Given the description of an element on the screen output the (x, y) to click on. 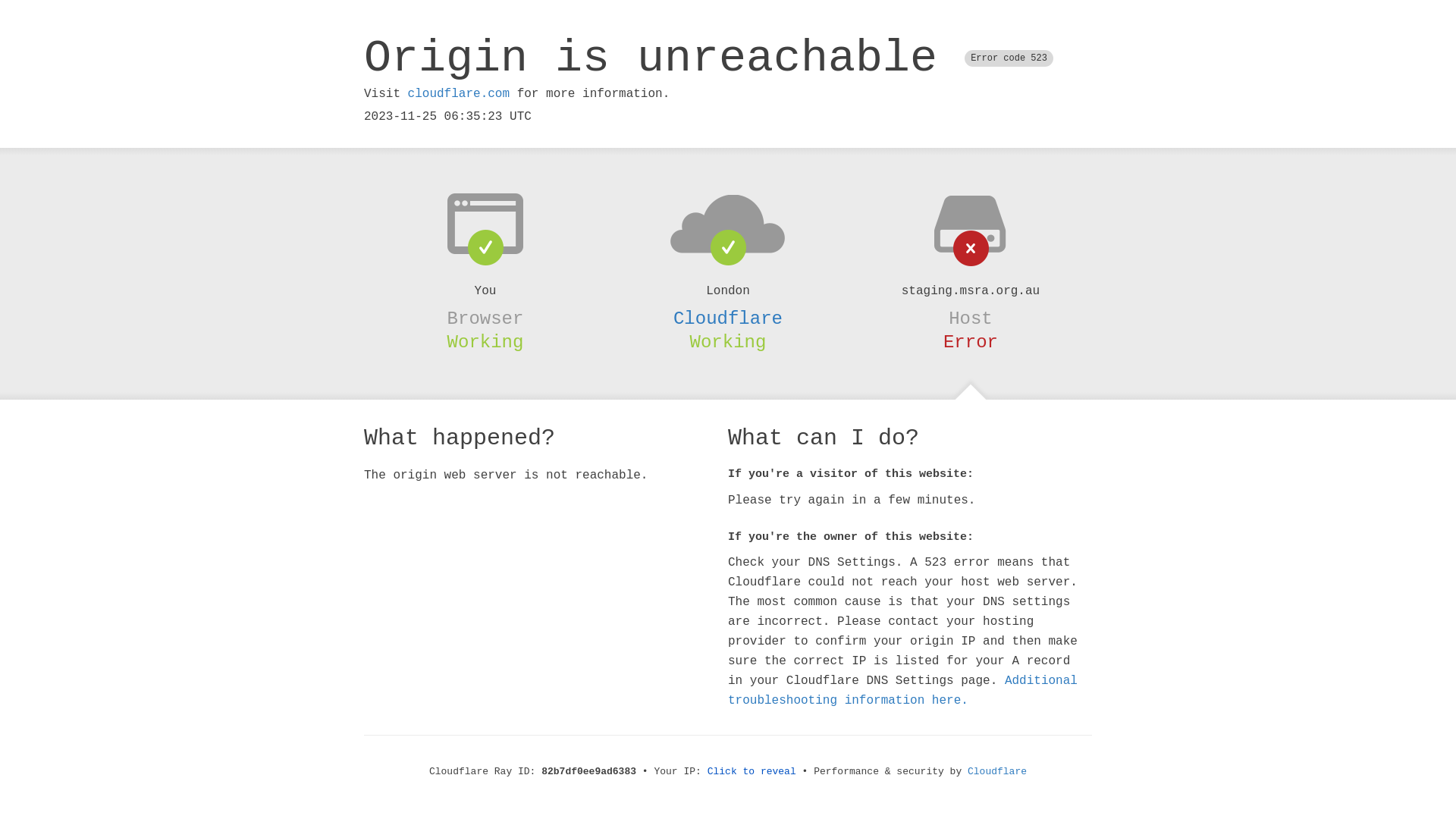
Click to reveal Element type: text (751, 771)
Additional troubleshooting information here. Element type: text (902, 690)
Cloudflare Element type: text (996, 771)
Cloudflare Element type: text (727, 318)
cloudflare.com Element type: text (458, 93)
